Given the description of an element on the screen output the (x, y) to click on. 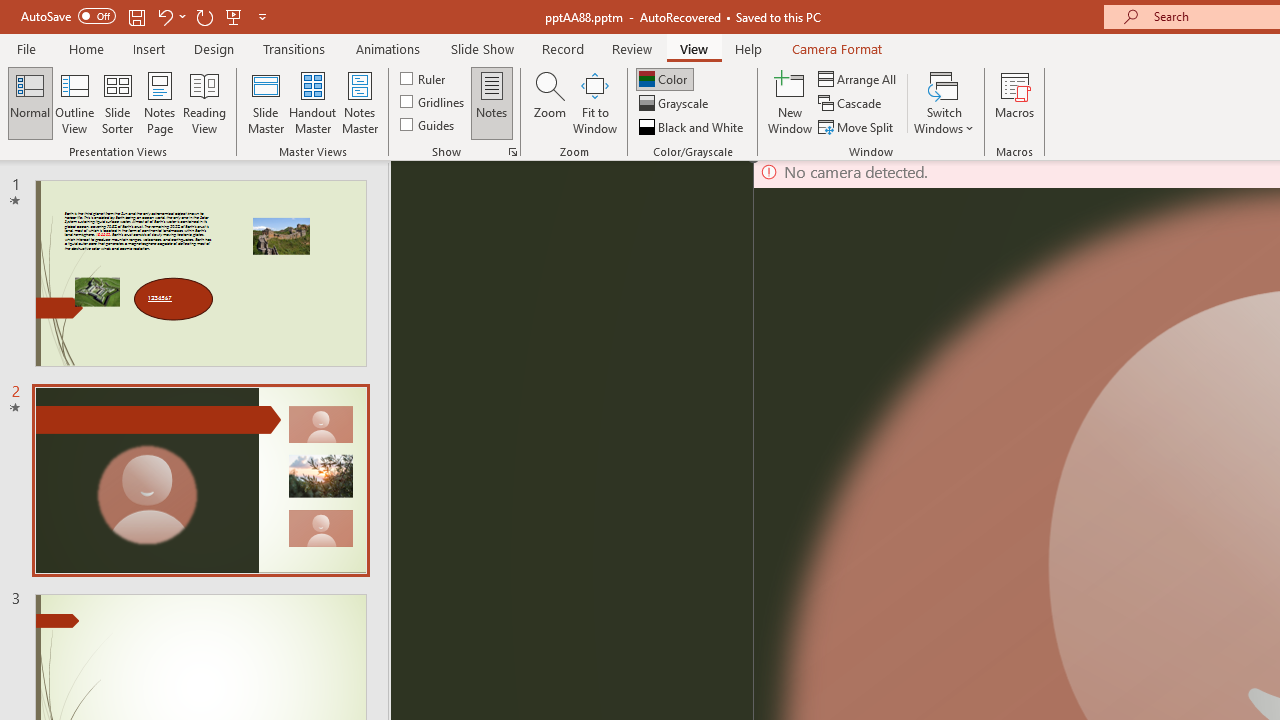
Review (631, 48)
Outline View (74, 102)
Move Split (857, 126)
Animations (388, 48)
From Beginning (234, 15)
New Window (790, 102)
File Tab (26, 48)
Notes (492, 102)
Switch Windows (943, 102)
Insert (149, 48)
Save (136, 15)
Arrange All (858, 78)
Guides (428, 124)
